Given the description of an element on the screen output the (x, y) to click on. 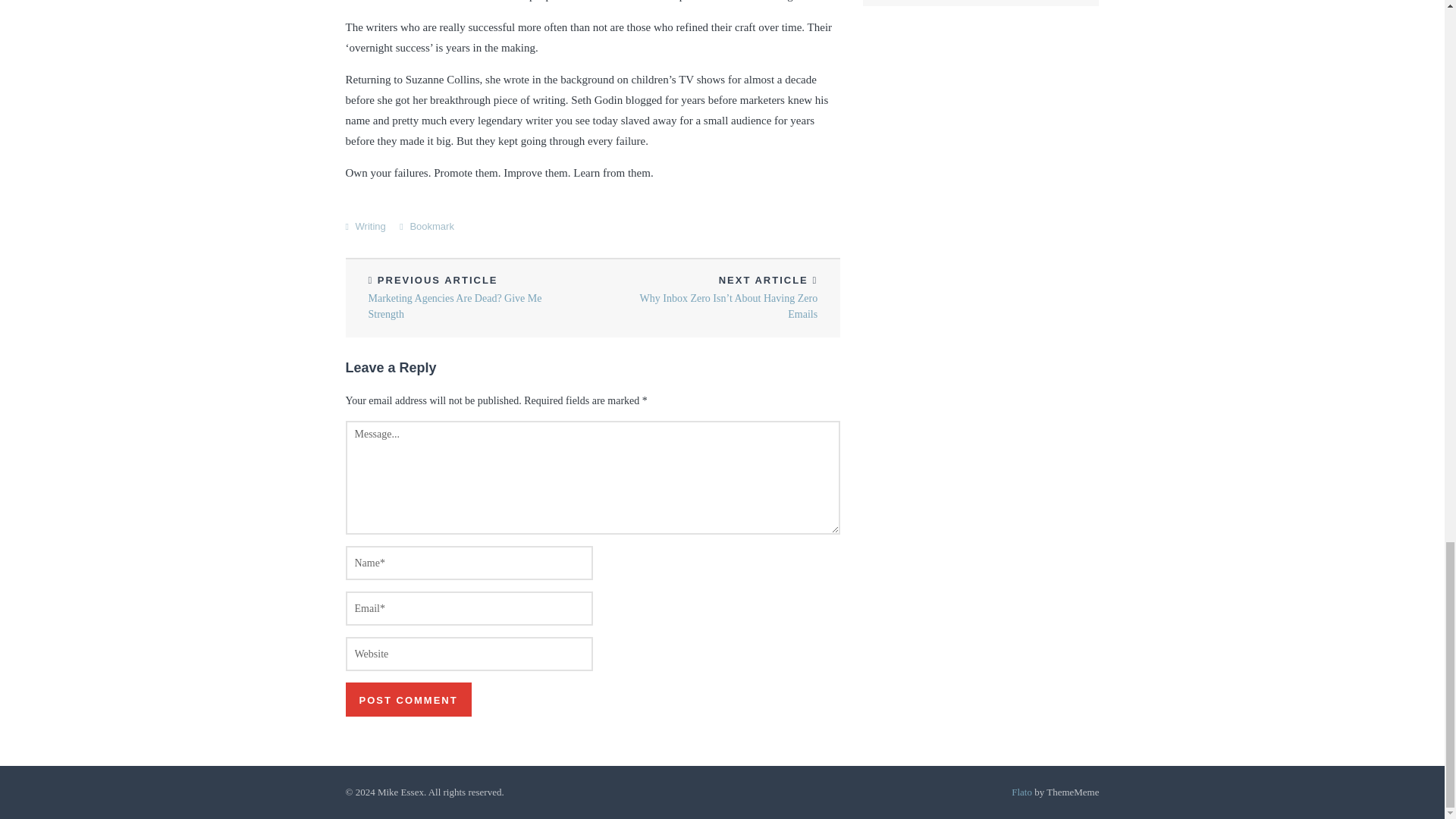
Post Comment (408, 699)
Post Comment (408, 699)
Writing (370, 225)
Bookmark (431, 225)
